Given the description of an element on the screen output the (x, y) to click on. 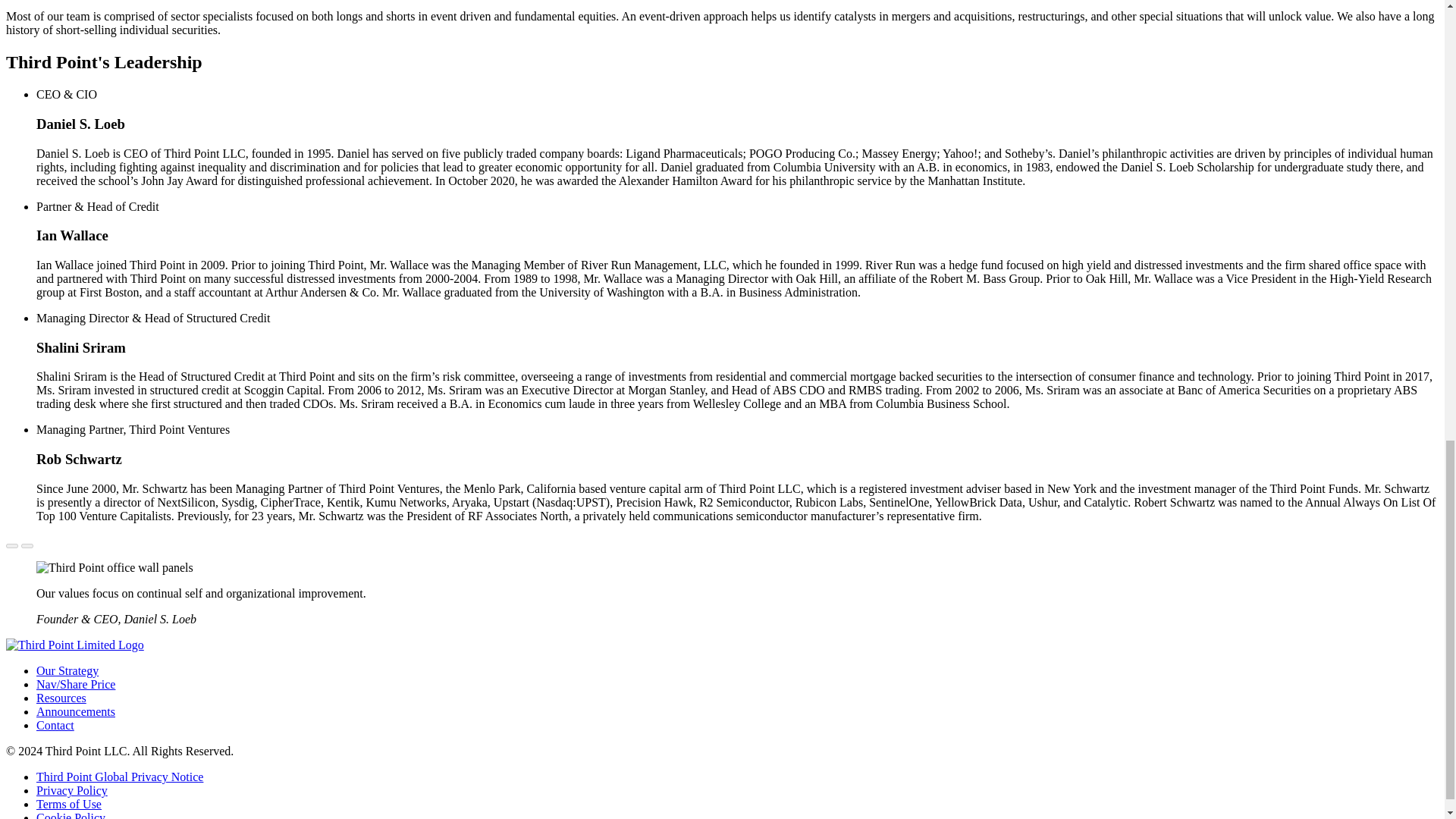
Privacy Policy (71, 789)
Announcements (75, 711)
Terms of Use (68, 803)
Resources (60, 697)
Contact (55, 725)
Third Point Global Privacy Notice (119, 776)
Our Strategy (67, 670)
